Given the description of an element on the screen output the (x, y) to click on. 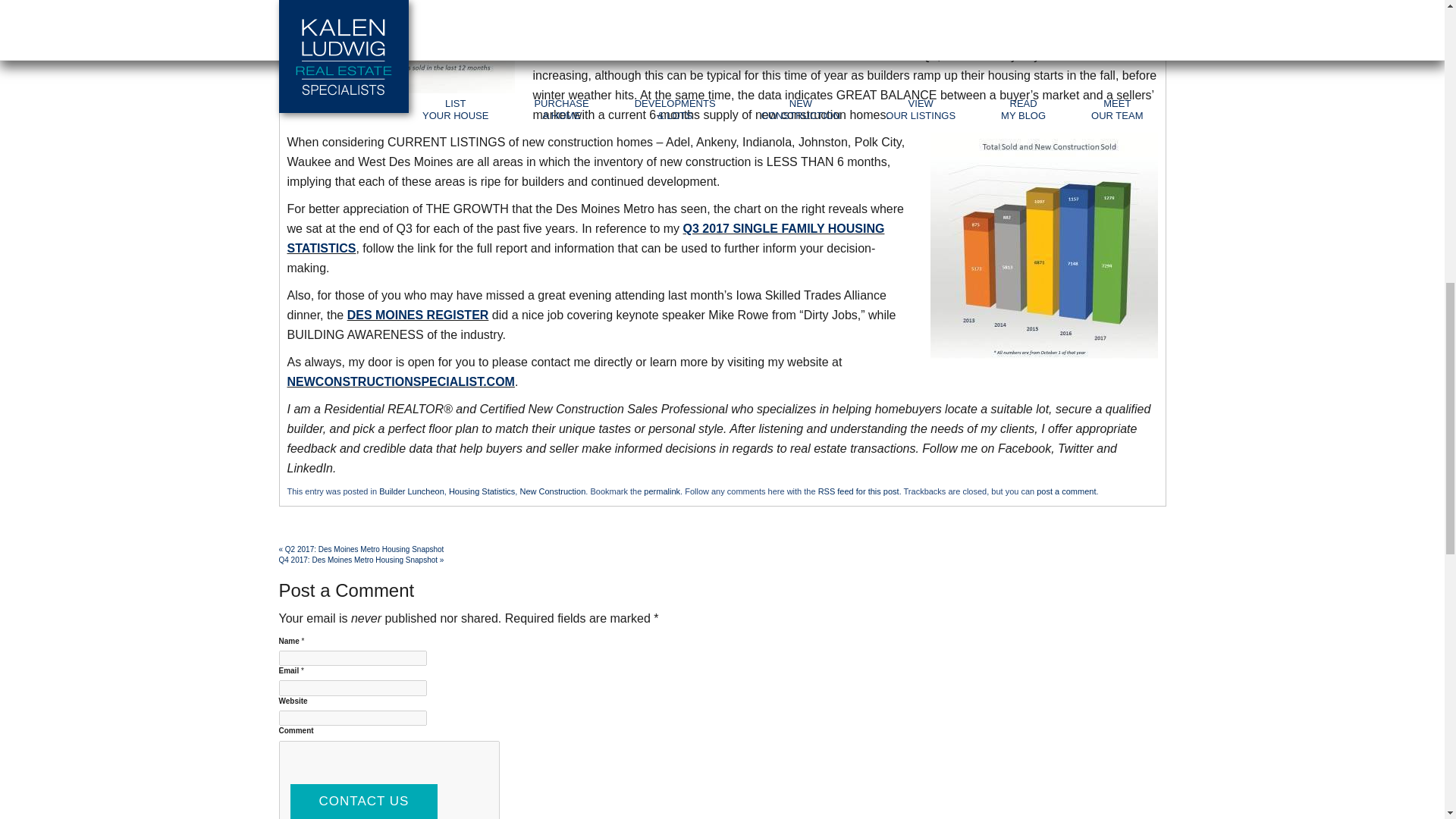
NEWCONSTRUCTIONSPECIALIST.COM (399, 381)
post a comment (1066, 491)
RSS feed for this post (858, 491)
Comments RSS to Q3 2017: Des Moines Metro Housing Snapshot (858, 491)
Builder Luncheon (411, 491)
DES MOINES REGISTER (418, 314)
Post a comment (1066, 491)
Permalink to Q3 2017: Des Moines Metro Housing Snapshot (661, 491)
Housing Statistics (481, 491)
permalink (661, 491)
New Construction (552, 491)
Q3 2017 SINGLE FAMILY HOUSING STATISTICS (584, 237)
